Given the description of an element on the screen output the (x, y) to click on. 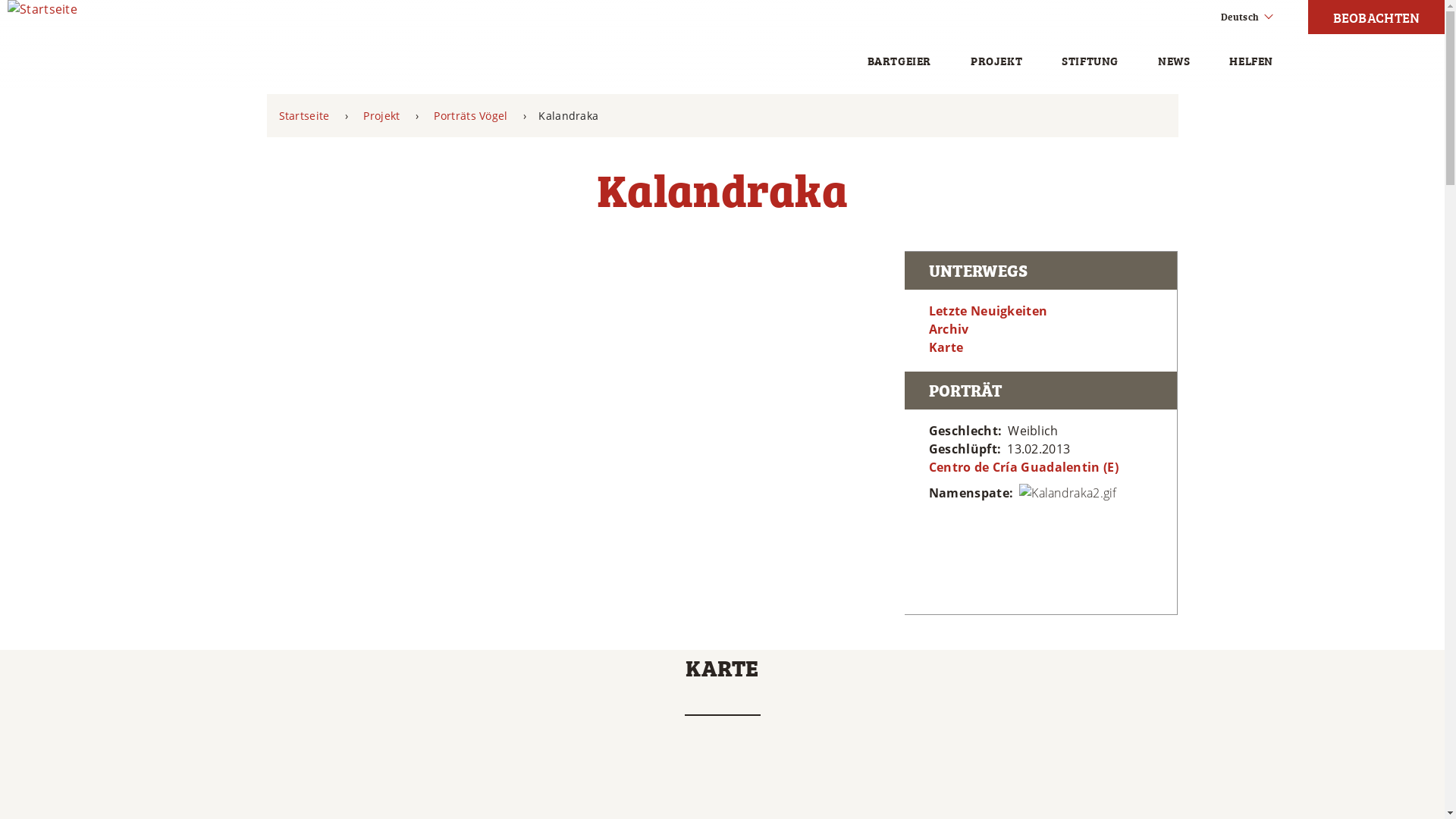
STIFTUNG Element type: text (1090, 60)
Startseite Element type: text (304, 115)
NEWS Element type: text (1173, 60)
Projekt Element type: text (381, 115)
Direkt zum Inhalt Element type: text (0, 0)
BEOBACHTEN Element type: text (1376, 17)
BARTGEIER Element type: text (898, 60)
Letzte Neuigkeiten Element type: text (987, 310)
Kalandraka Element type: text (568, 115)
Suche Element type: text (113, 11)
HELFEN Element type: text (1250, 60)
PROJEKT Element type: text (996, 60)
Karte Element type: text (945, 346)
Archiv Element type: text (948, 328)
